Given the description of an element on the screen output the (x, y) to click on. 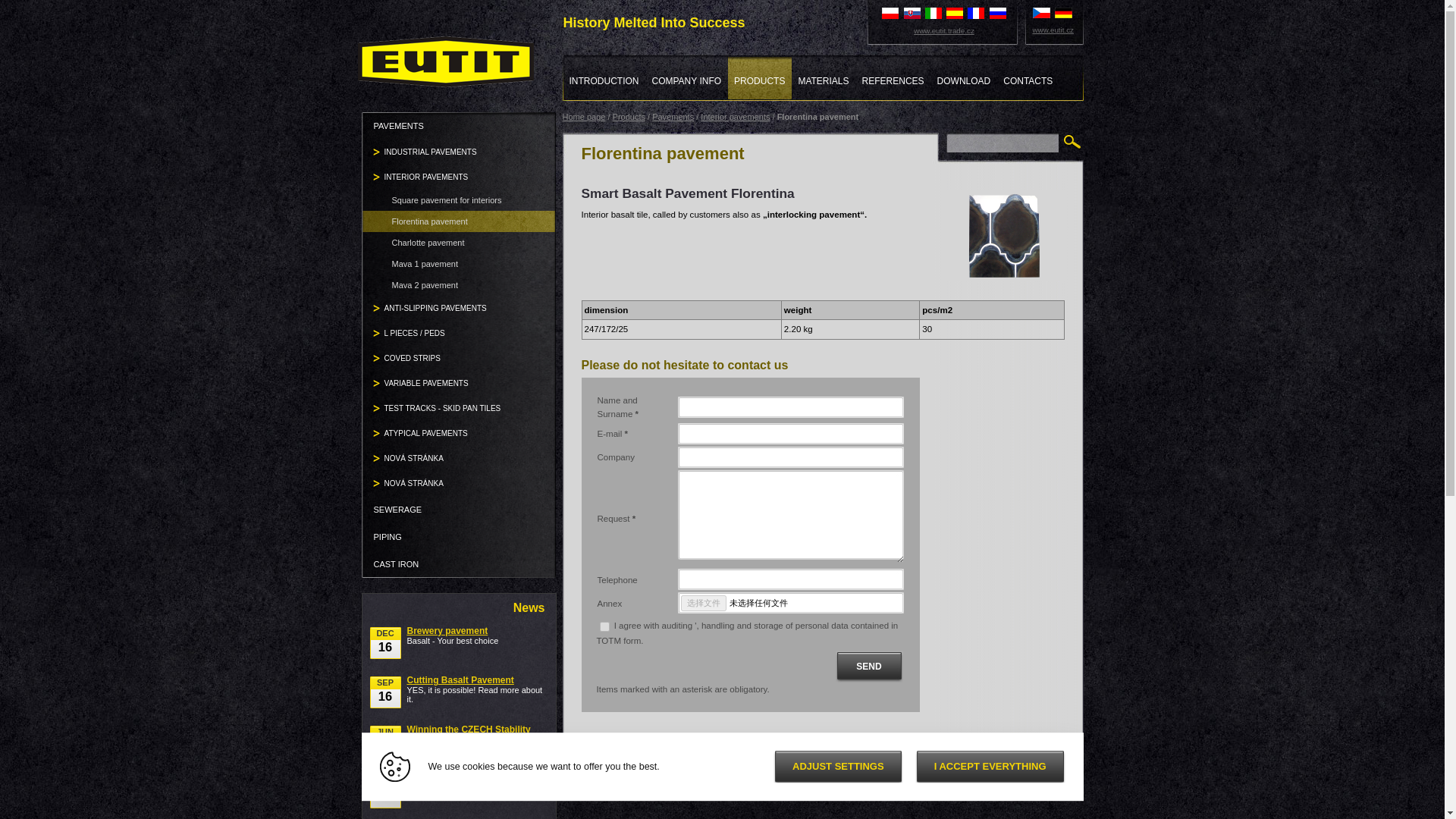
COMPANY INFO (687, 77)
CONTACTS (1028, 77)
www.eutit.trade.cz (943, 30)
Pavements (673, 116)
Print a page (628, 755)
Florentina pavement (459, 220)
COVED STRIPS (459, 358)
TEST TRACKS - SKID PAN TILES (459, 407)
Send reference to e-mail (735, 755)
Charlotte pavement (459, 242)
Interior pavements (735, 116)
Pavement Florentina (1003, 234)
INTRODUCTION (603, 77)
Square pavement for interiors (459, 199)
PRODUCTS (760, 77)
